Given the description of an element on the screen output the (x, y) to click on. 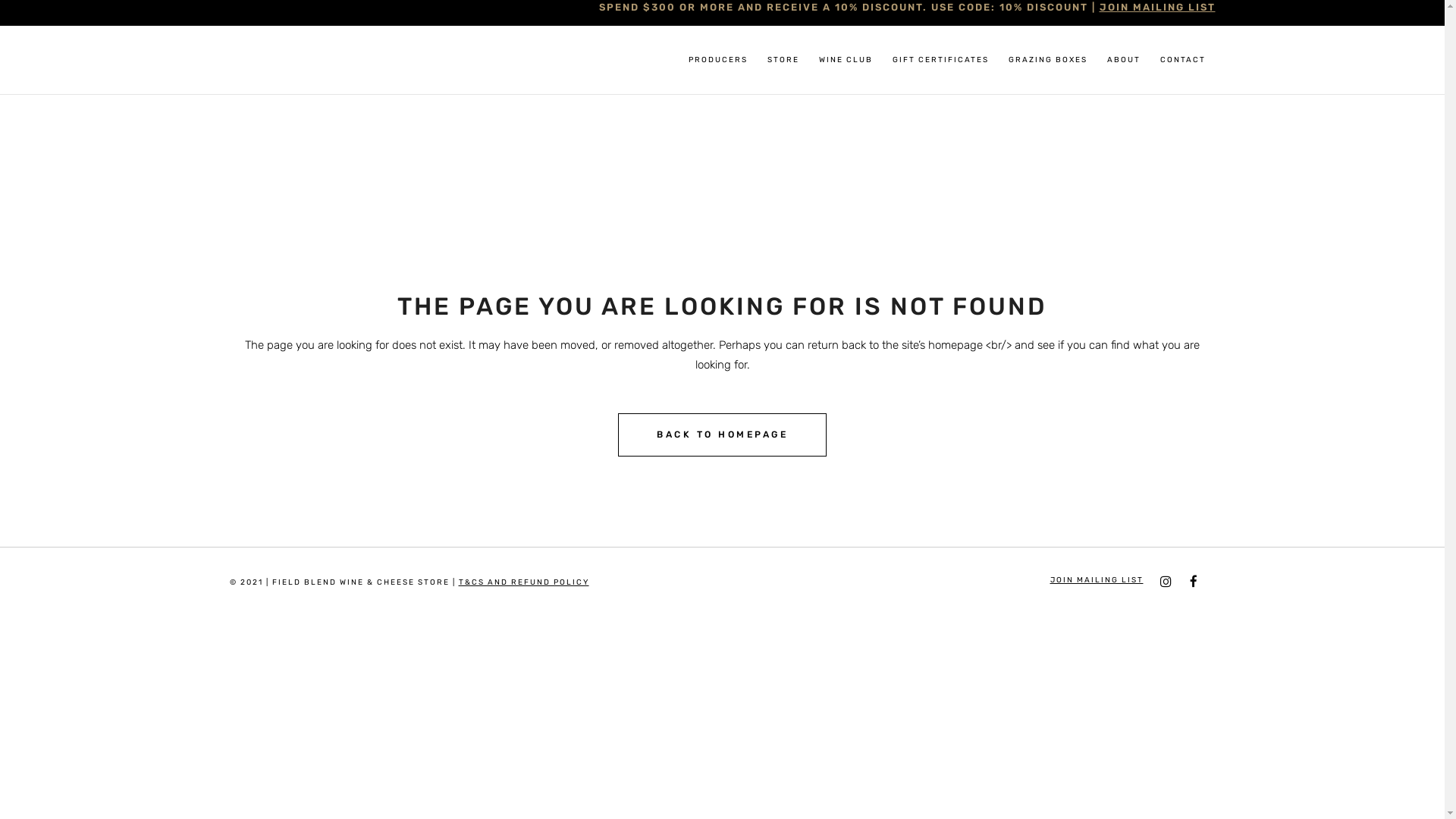
ABOUT Element type: text (1122, 59)
JOIN MAILING LIST Element type: text (1095, 579)
WINE CLUB Element type: text (844, 59)
JOIN MAILING LIST Element type: text (1157, 6)
BACK TO HOMEPAGE Element type: text (722, 434)
GIFT CERTIFICATES Element type: text (940, 59)
PRODUCERS Element type: text (716, 59)
GRAZING BOXES Element type: text (1046, 59)
CONTACT Element type: text (1181, 59)
STORE Element type: text (782, 59)
T&CS AND REFUND POLICY Element type: text (523, 581)
